Given the description of an element on the screen output the (x, y) to click on. 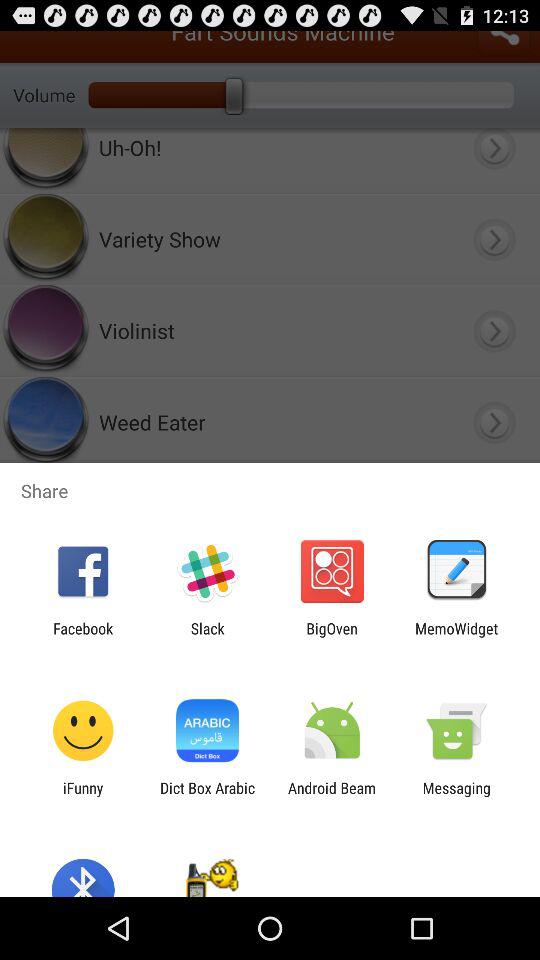
launch the icon to the right of bigoven (456, 637)
